Given the description of an element on the screen output the (x, y) to click on. 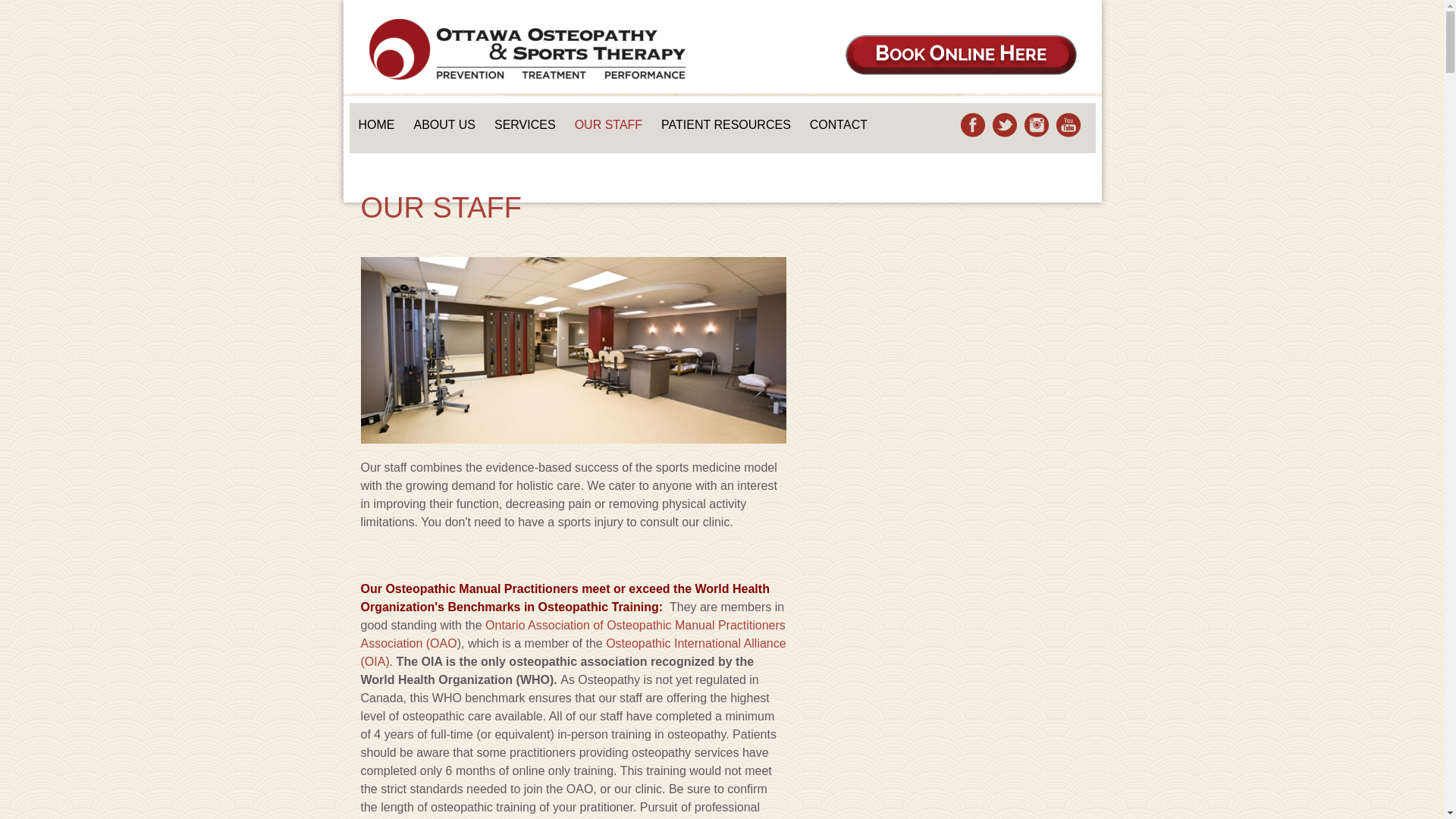
OUR STAFF (608, 125)
HOME (376, 125)
SERVICES (524, 125)
PATIENT RESOURCES (725, 125)
CONTACT (838, 125)
ABOUT US (444, 125)
